Given the description of an element on the screen output the (x, y) to click on. 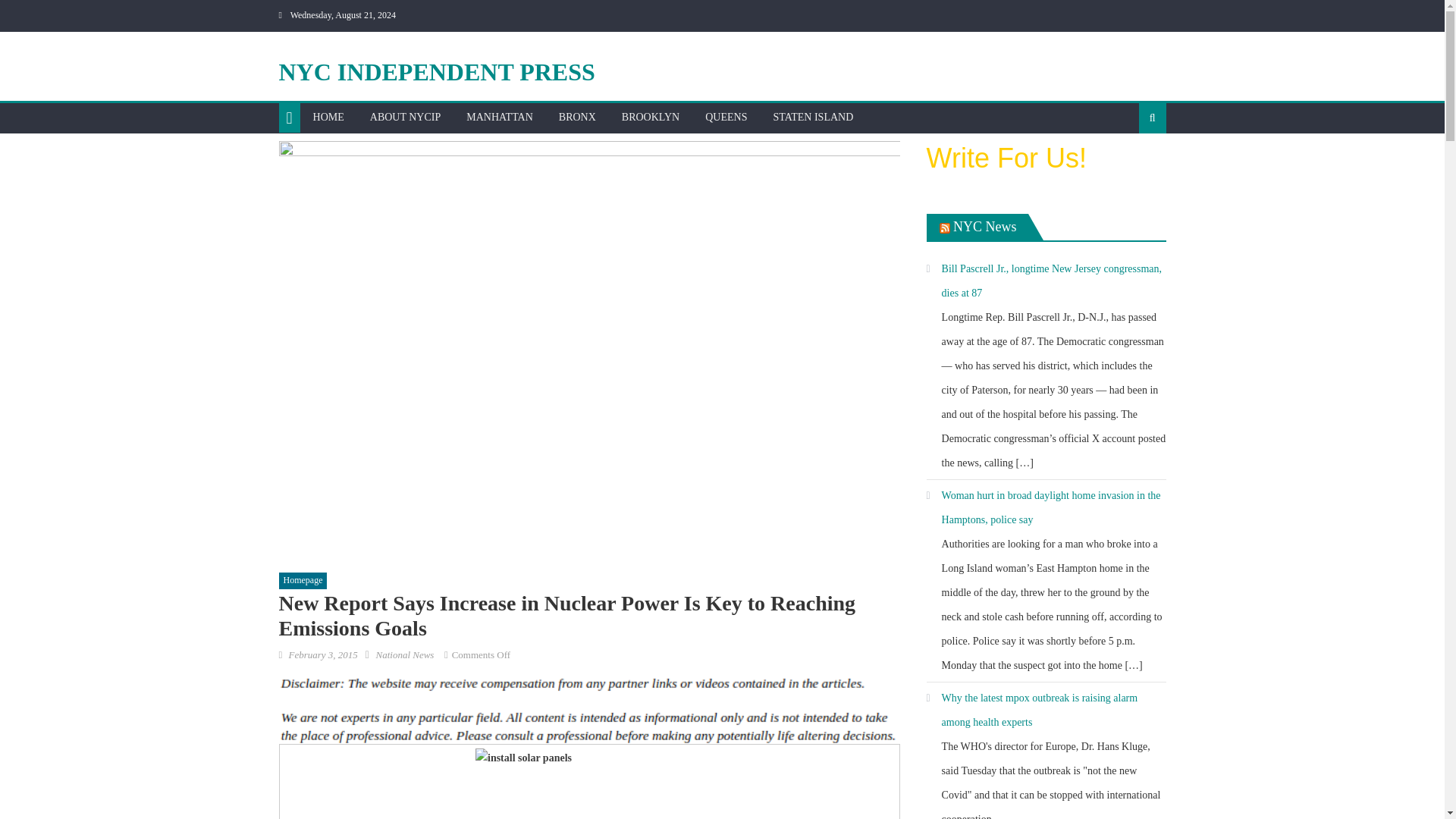
HOME (328, 117)
February 3, 2015 (322, 654)
BROOKLYN (650, 117)
MANHATTAN (499, 117)
QUEENS (726, 117)
NYC INDEPENDENT PRESS (437, 71)
Homepage (303, 580)
STATEN ISLAND (812, 117)
ABOUT NYCIP (404, 117)
Search (1128, 166)
